Given the description of an element on the screen output the (x, y) to click on. 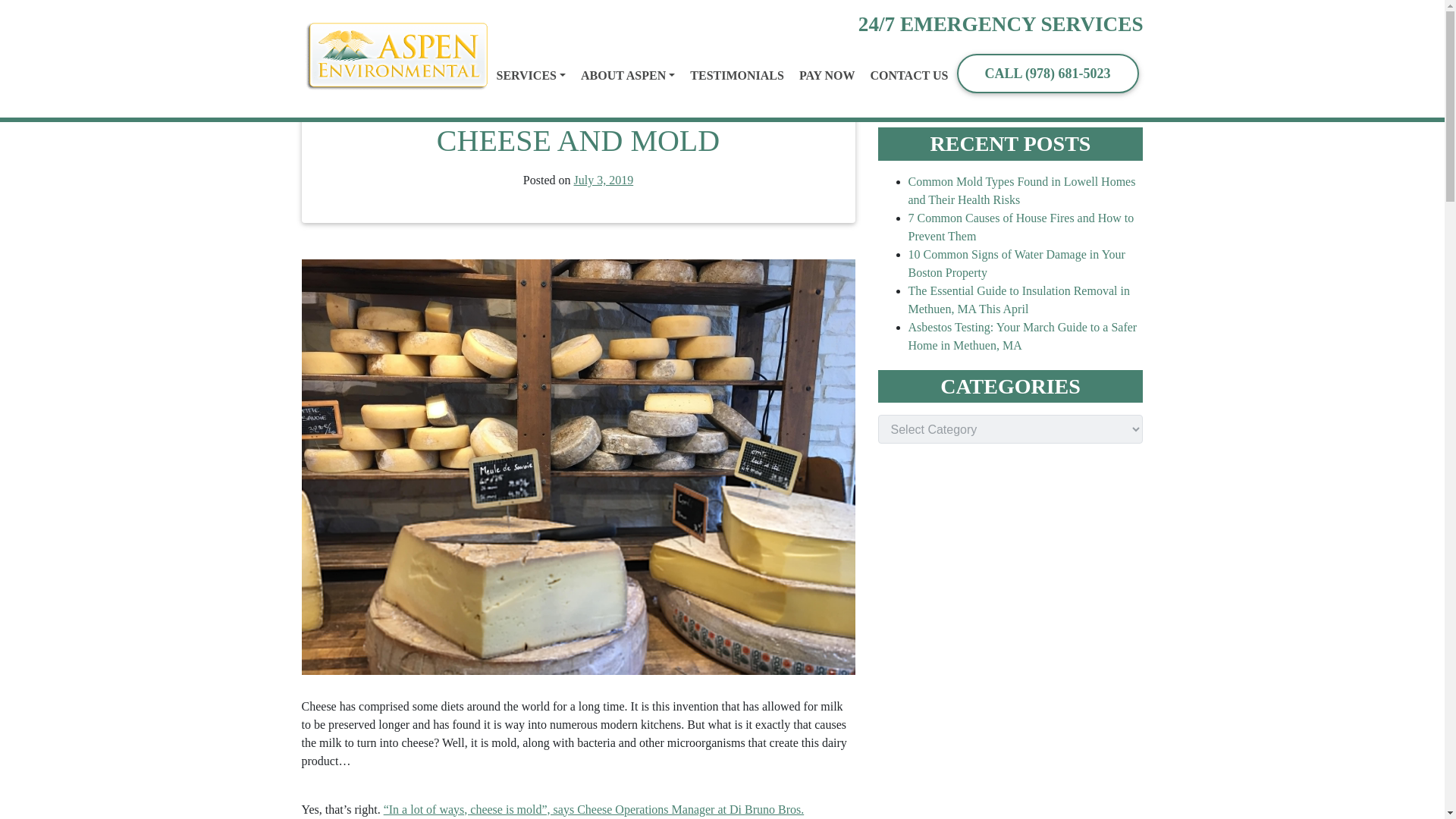
PAY NOW (826, 75)
Home (338, 17)
Search (1080, 91)
ABOUT ASPEN (627, 75)
TESTIMONIALS (736, 75)
Blog (375, 17)
SERVICES (530, 75)
CONTACT US (909, 75)
July 3, 2019 (603, 179)
Search (1080, 91)
